Given the description of an element on the screen output the (x, y) to click on. 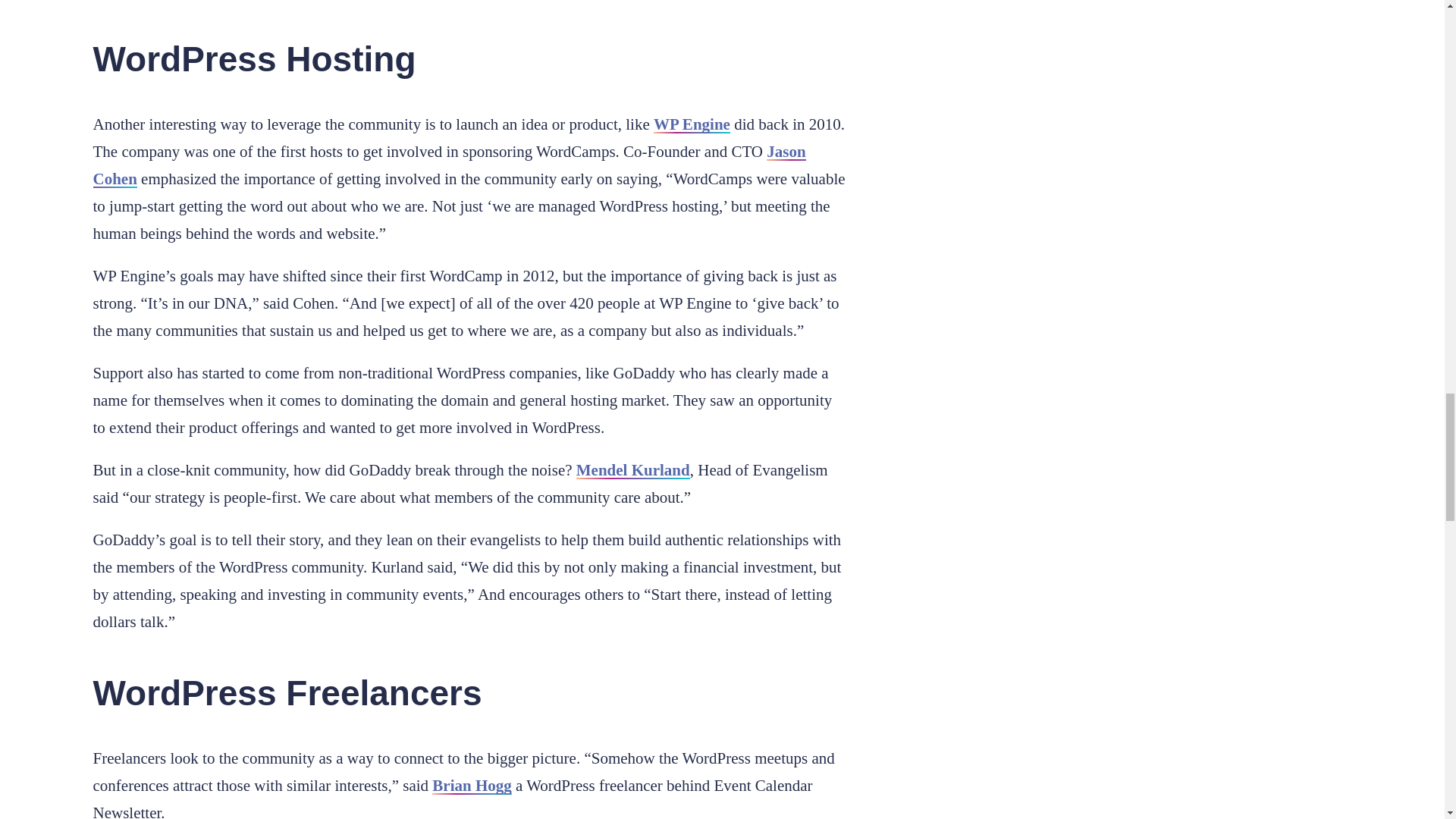
Jason Cohen (449, 165)
Brian Hogg (471, 785)
WP Engine (691, 124)
Mendel Kurland (633, 470)
